Given the description of an element on the screen output the (x, y) to click on. 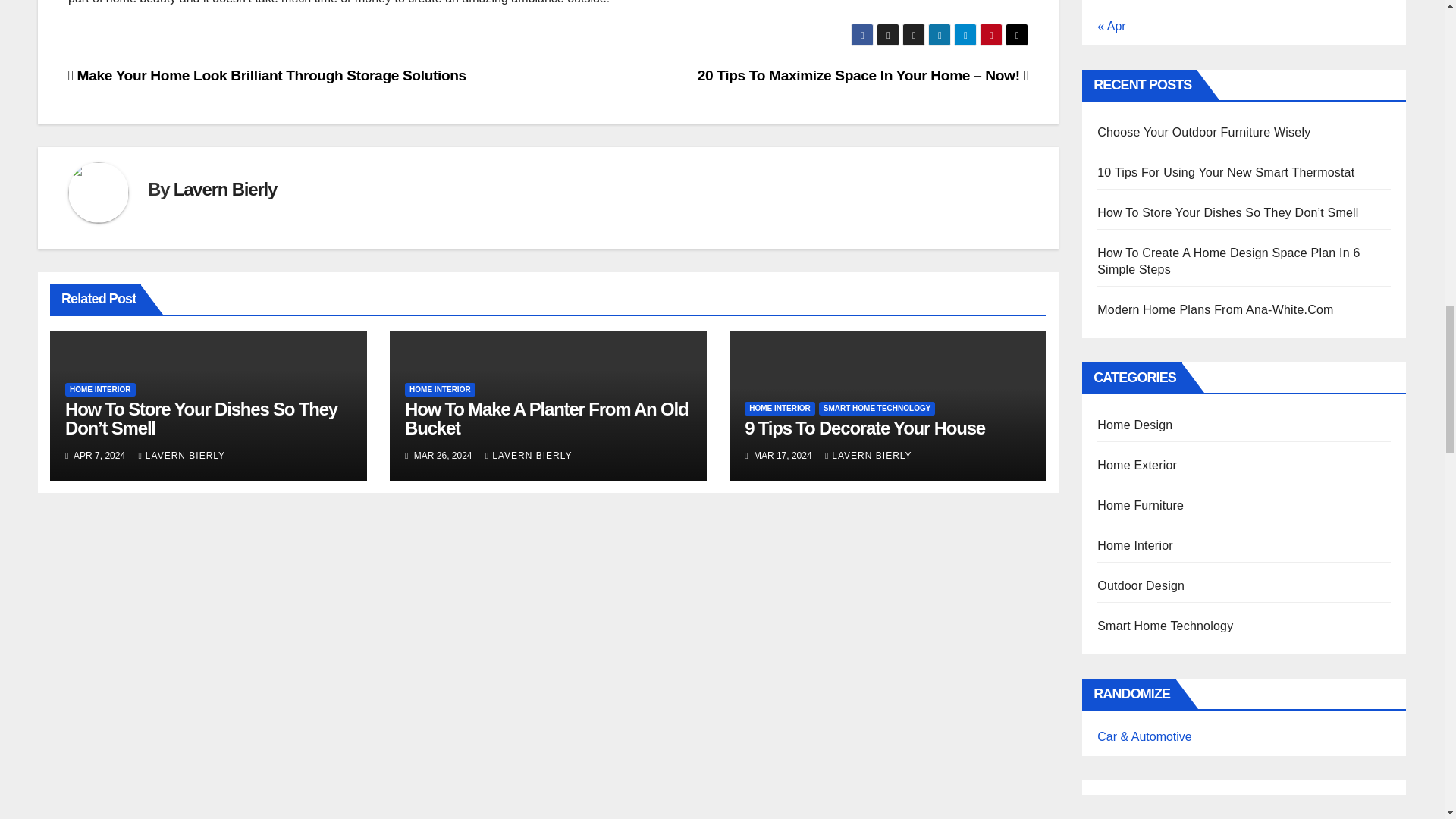
Permalink to: 9 Tips To Decorate Your House (864, 427)
Permalink to: How To Make A Planter From An Old Bucket (545, 418)
Make Your Home Look Brilliant Through Storage Solutions (266, 75)
